Given the description of an element on the screen output the (x, y) to click on. 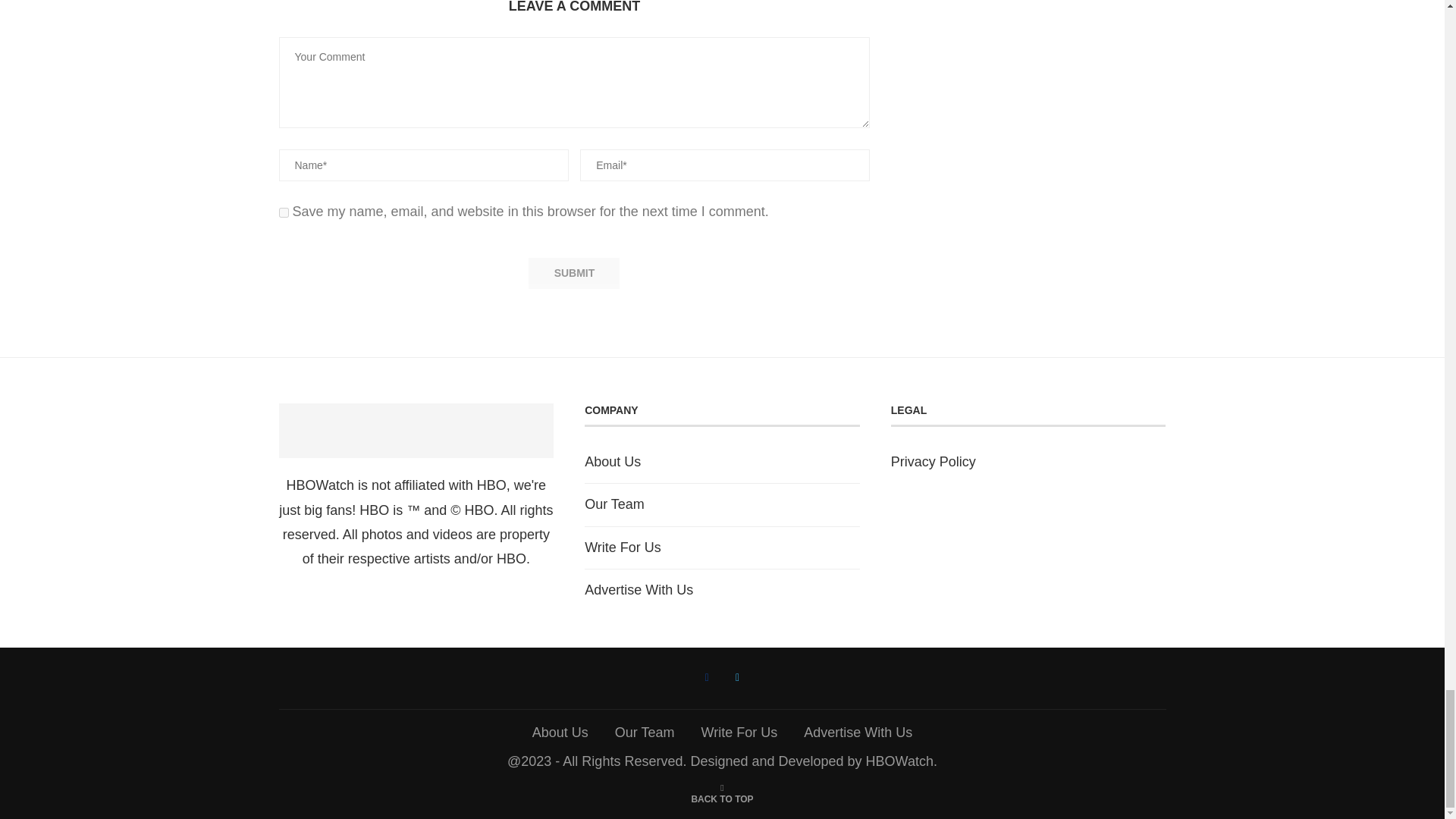
yes (283, 212)
Submit (574, 273)
